Given the description of an element on the screen output the (x, y) to click on. 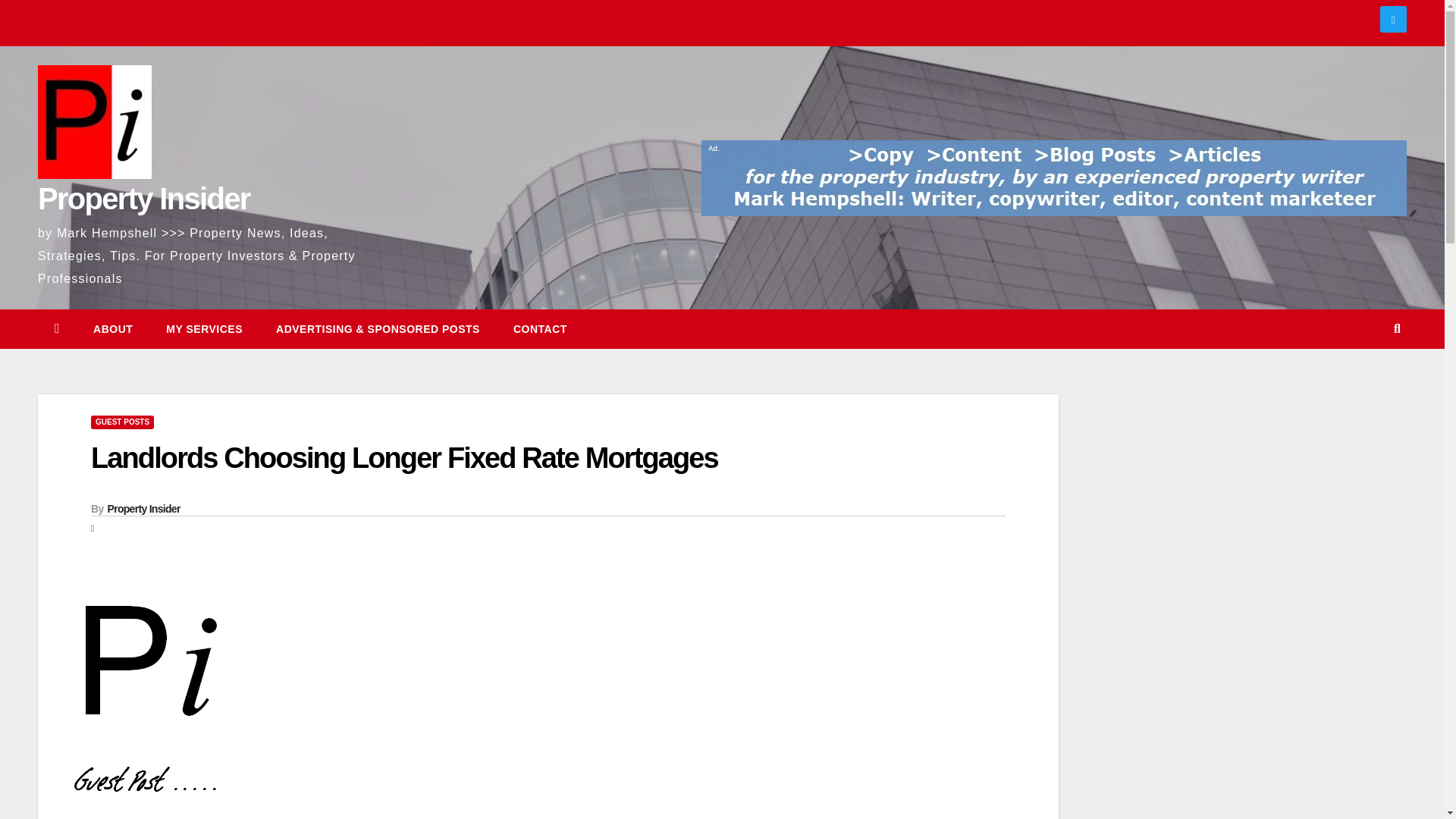
My Services (204, 328)
MY SERVICES (204, 328)
Property Insider (143, 198)
Permalink to: Landlords Choosing Longer Fixed Rate Mortgages (403, 458)
Landlords Choosing Longer Fixed Rate Mortgages (403, 458)
Property Insider (143, 508)
GUEST POSTS (122, 422)
ABOUT (113, 328)
Contact (539, 328)
About (113, 328)
